Given the description of an element on the screen output the (x, y) to click on. 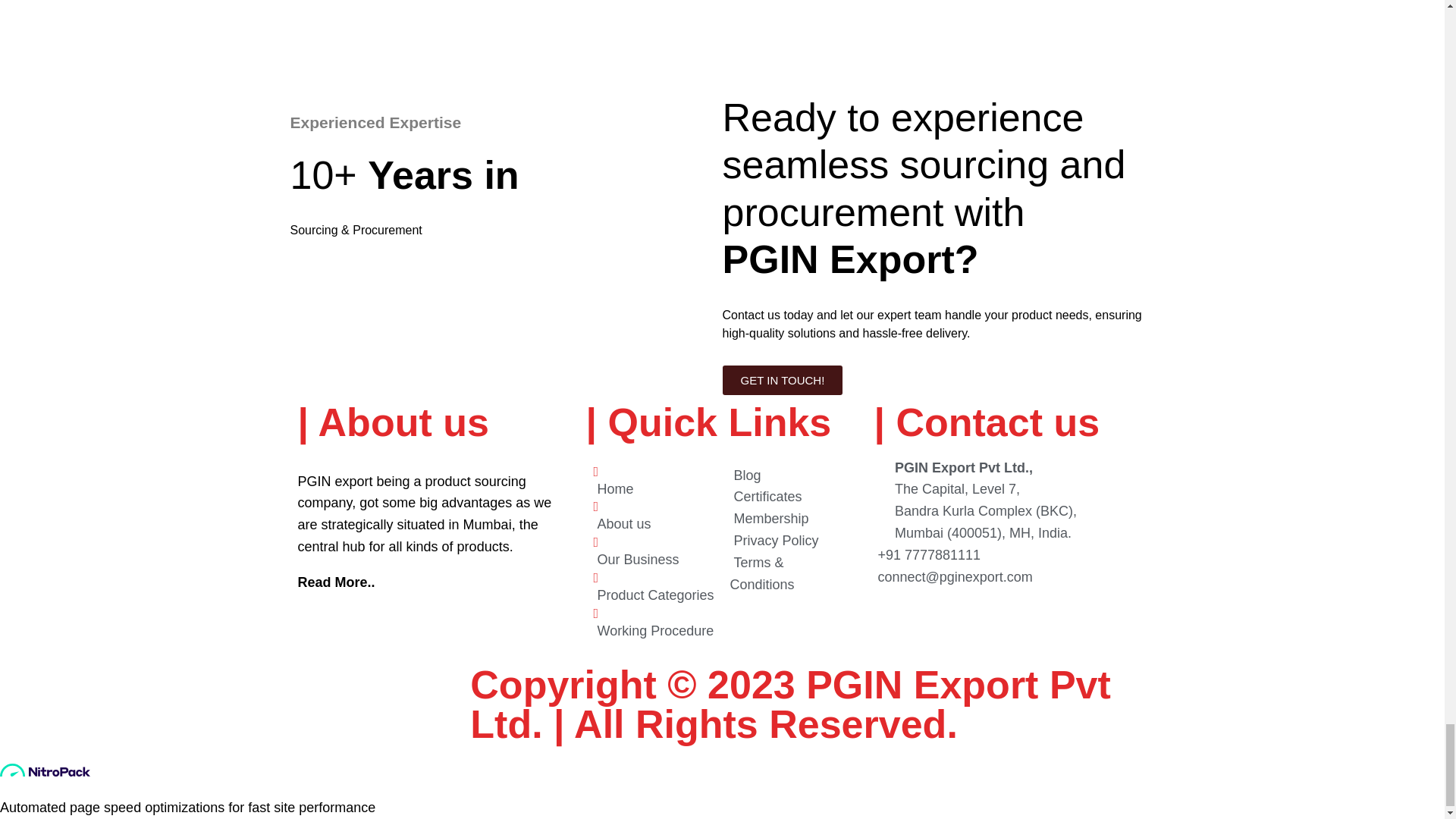
Home (612, 482)
Read More.. (335, 581)
Blog (744, 475)
Membership (768, 518)
GET IN TOUCH! (782, 379)
Privacy Policy (773, 540)
Our Business (635, 552)
About us (621, 517)
Certificates (765, 496)
Product Categories (652, 588)
